Given the description of an element on the screen output the (x, y) to click on. 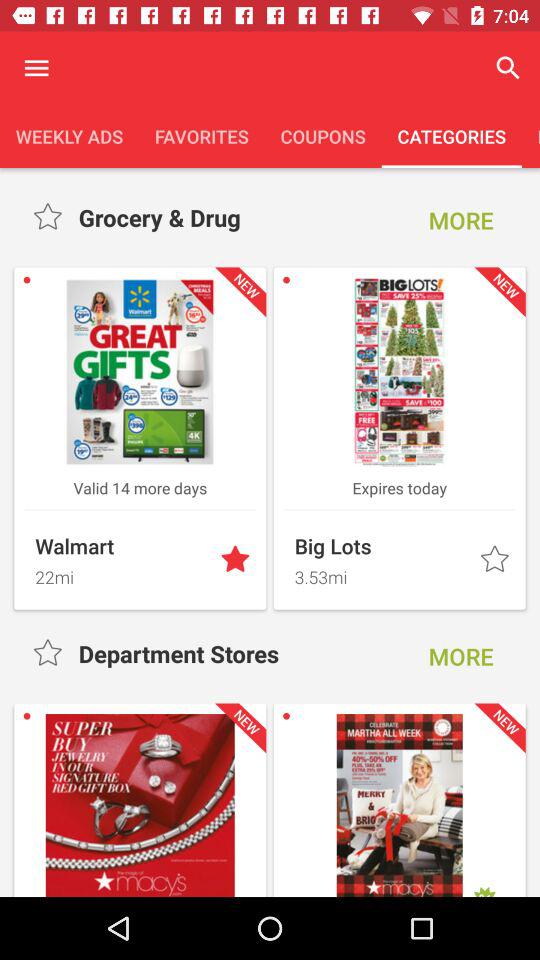
mark as favorite (237, 559)
